Given the description of an element on the screen output the (x, y) to click on. 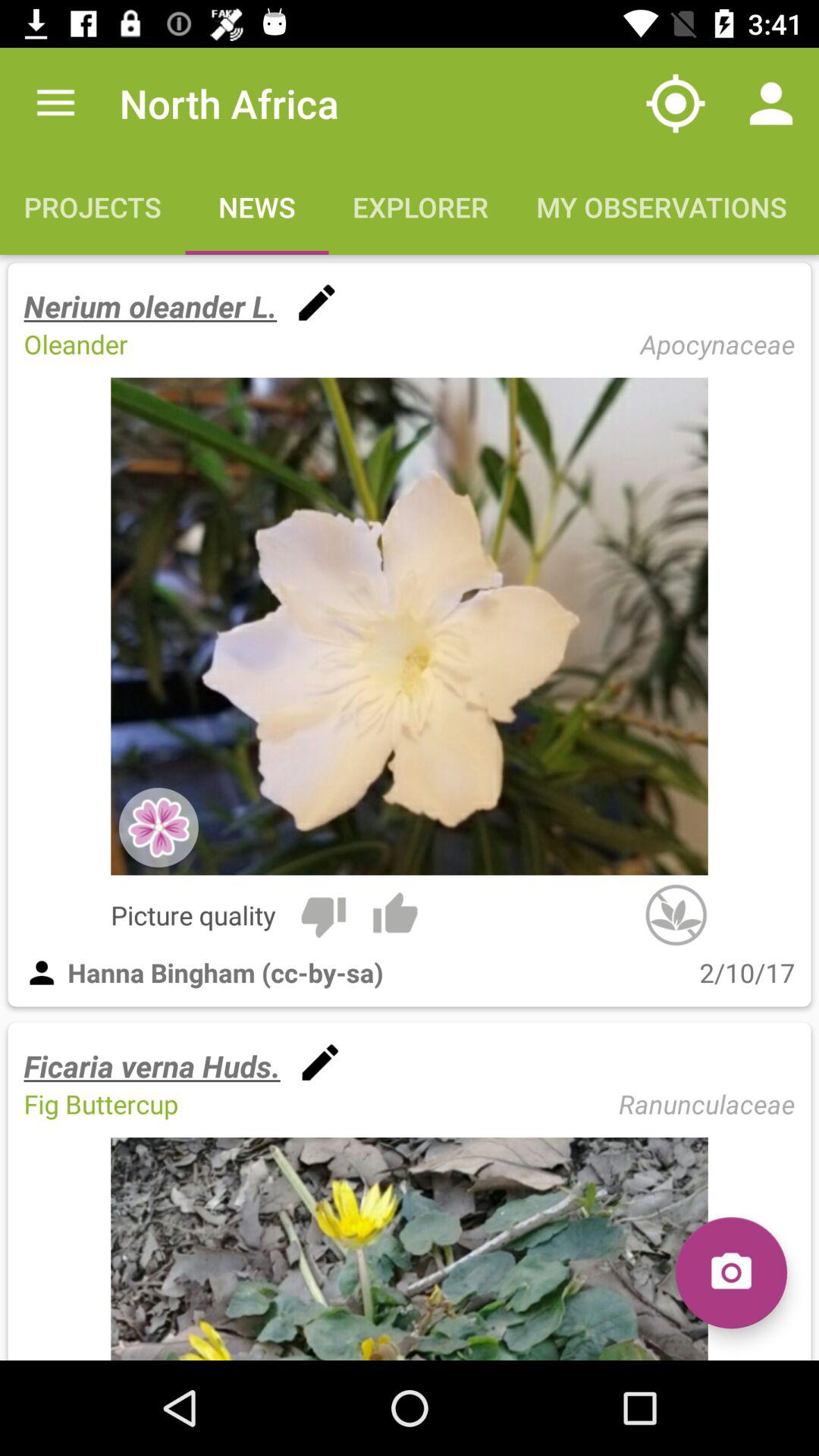
launch app next to north africa (675, 103)
